Given the description of an element on the screen output the (x, y) to click on. 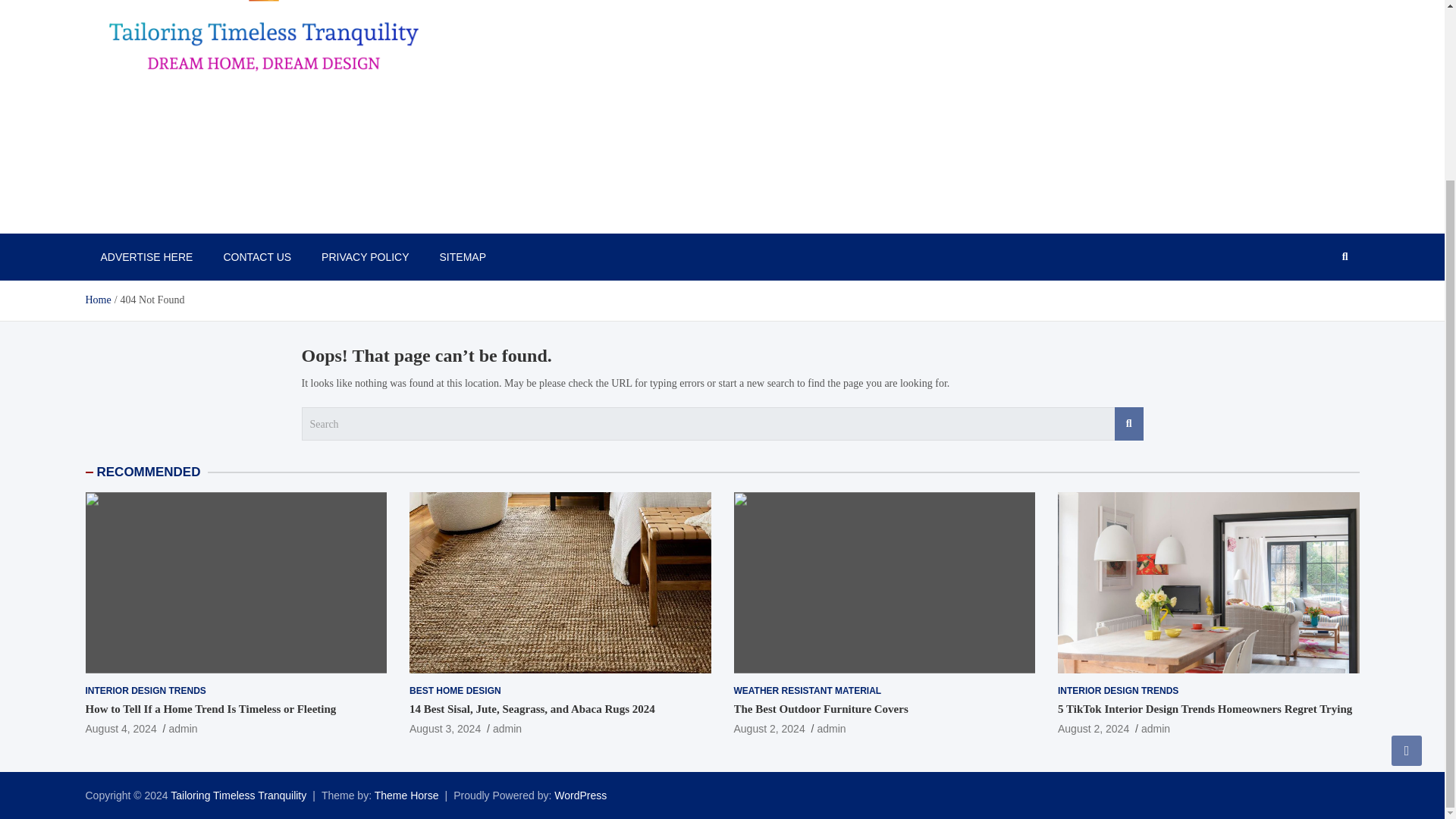
WordPress (580, 795)
Home (97, 299)
INTERIOR DESIGN TRENDS (1117, 690)
5 TikTok Interior Design Trends Homeowners Regret Trying (1093, 728)
WEATHER RESISTANT MATERIAL (807, 690)
How to Tell If a Home Trend Is Timeless or Fleeting (119, 728)
RECOMMENDED (148, 472)
The Best Outdoor Furniture Covers (769, 728)
14 Best Sisal, Jute, Seagrass, and Abaca Rugs 2024 (444, 728)
Go to Top (1406, 530)
August 2, 2024 (769, 728)
BEST HOME DESIGN (454, 690)
Theme Horse (406, 795)
INTERIOR DESIGN TRENDS (144, 690)
Tailoring Timeless Tranquility (237, 795)
